Given the description of an element on the screen output the (x, y) to click on. 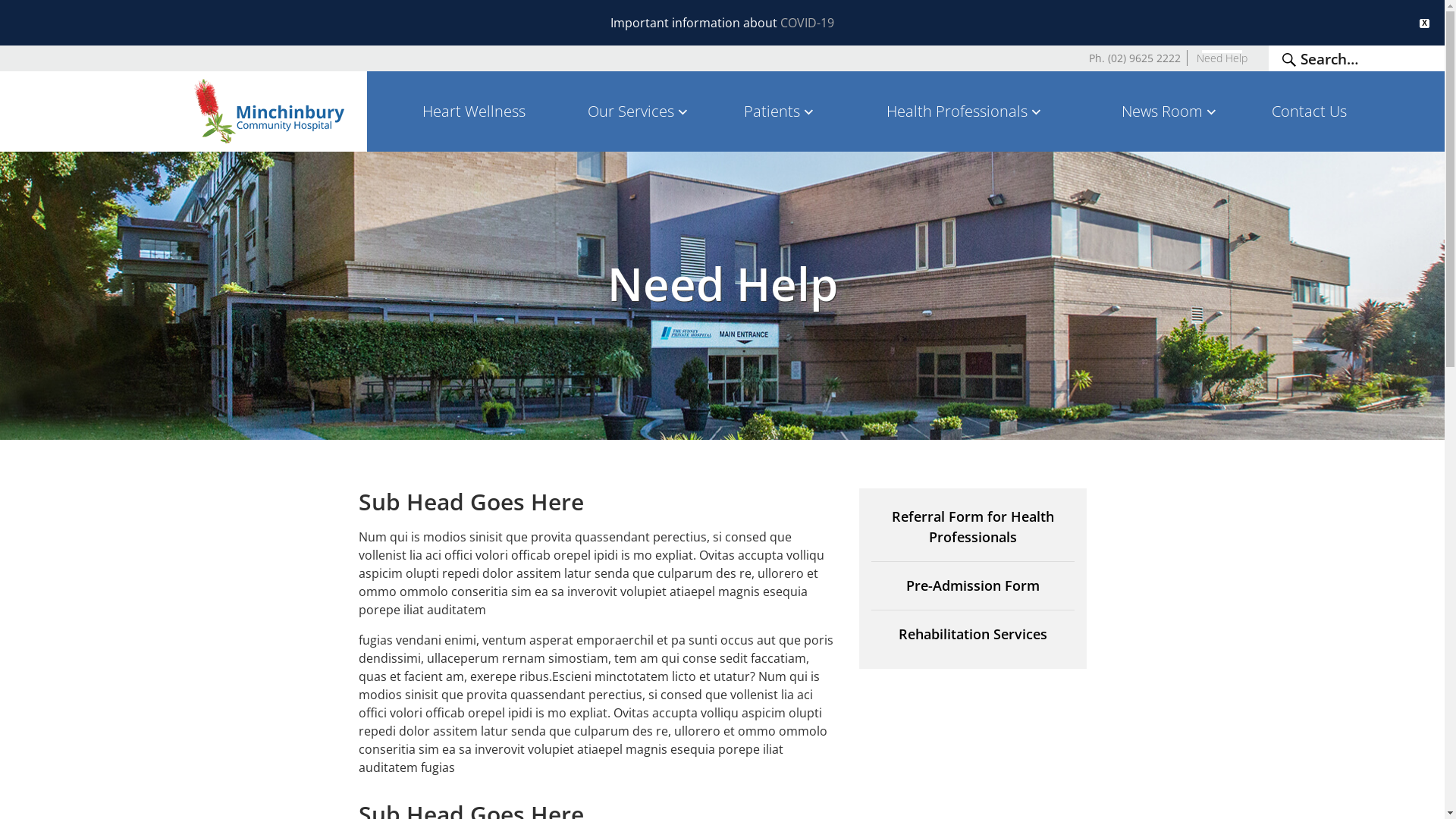
Referral Form for Health Professionals Element type: text (971, 533)
Health Professionals Element type: text (965, 111)
Our Services Element type: text (638, 111)
Pre-Admission Form Element type: text (971, 592)
Heart Wellness Element type: text (473, 111)
COVID-19 Element type: text (807, 22)
Rehabilitation Services Element type: text (971, 634)
Contact Us Element type: text (1308, 111)
Patients Element type: text (779, 111)
News Room Element type: text (1170, 111)
Need Help Element type: text (1221, 57)
Ph. (02) 9625 2222 Element type: text (1134, 57)
